Given the description of an element on the screen output the (x, y) to click on. 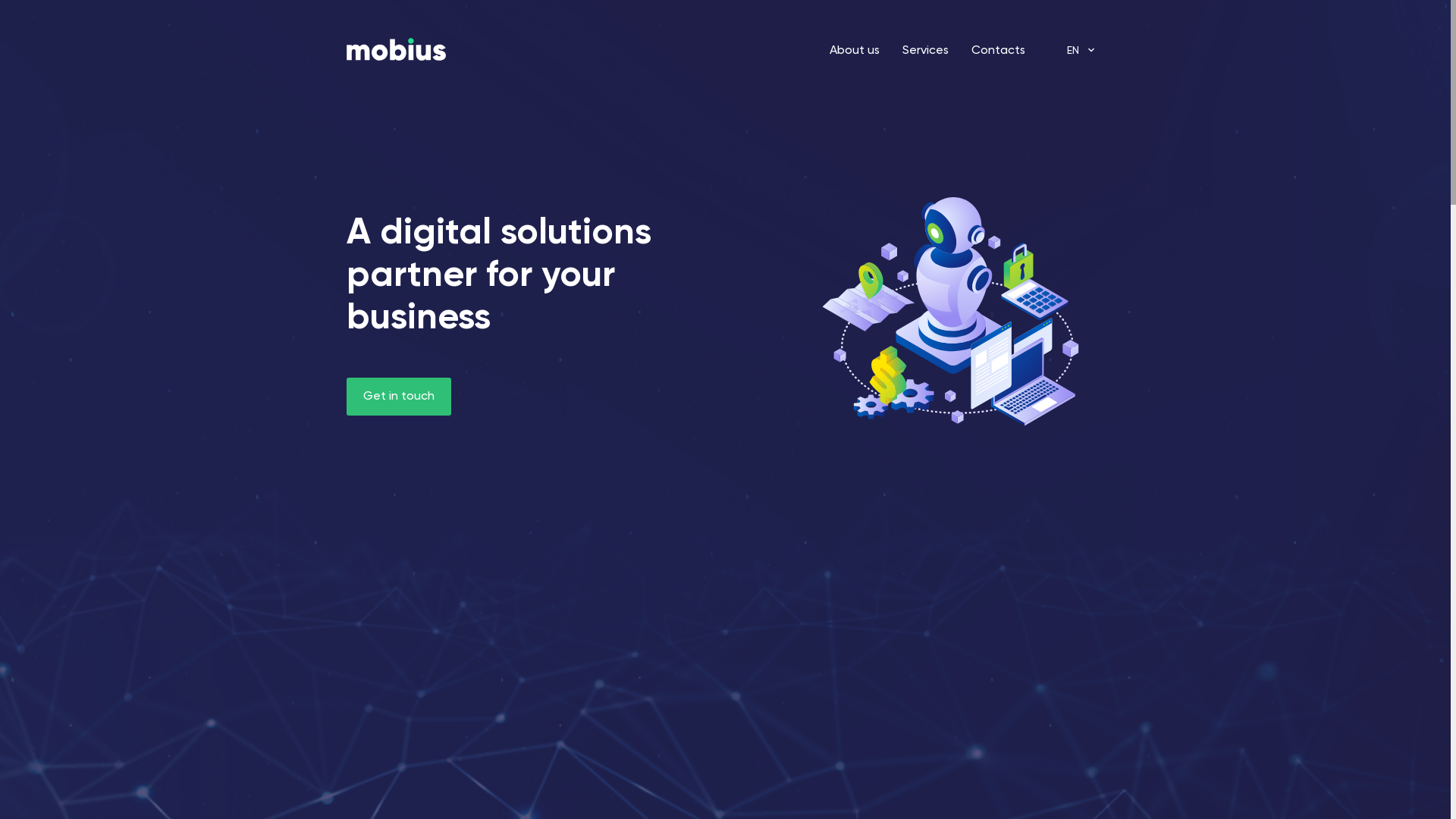
Contacts Element type: text (997, 50)
Services Element type: text (925, 50)
About us Element type: text (854, 50)
Get in touch Element type: text (397, 396)
